Given the description of an element on the screen output the (x, y) to click on. 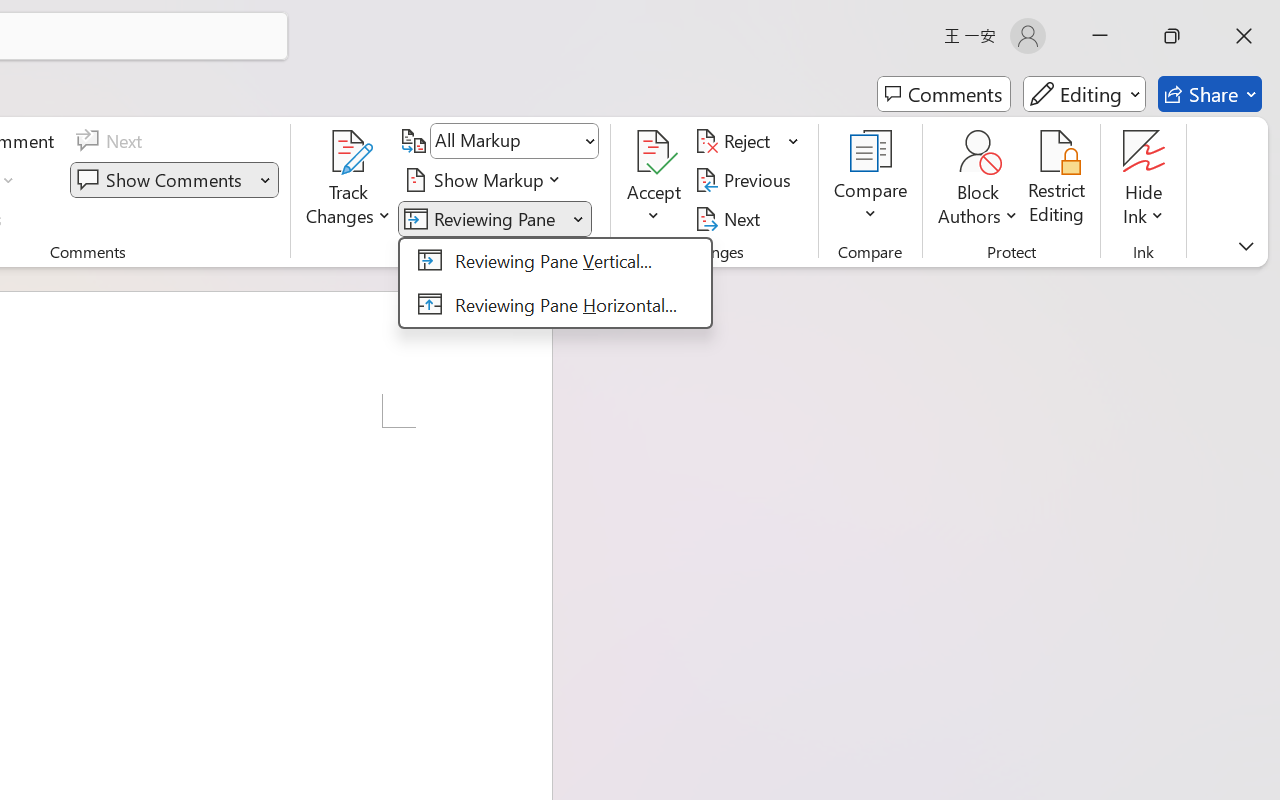
Reject and Move to Next (735, 141)
